Given the description of an element on the screen output the (x, y) to click on. 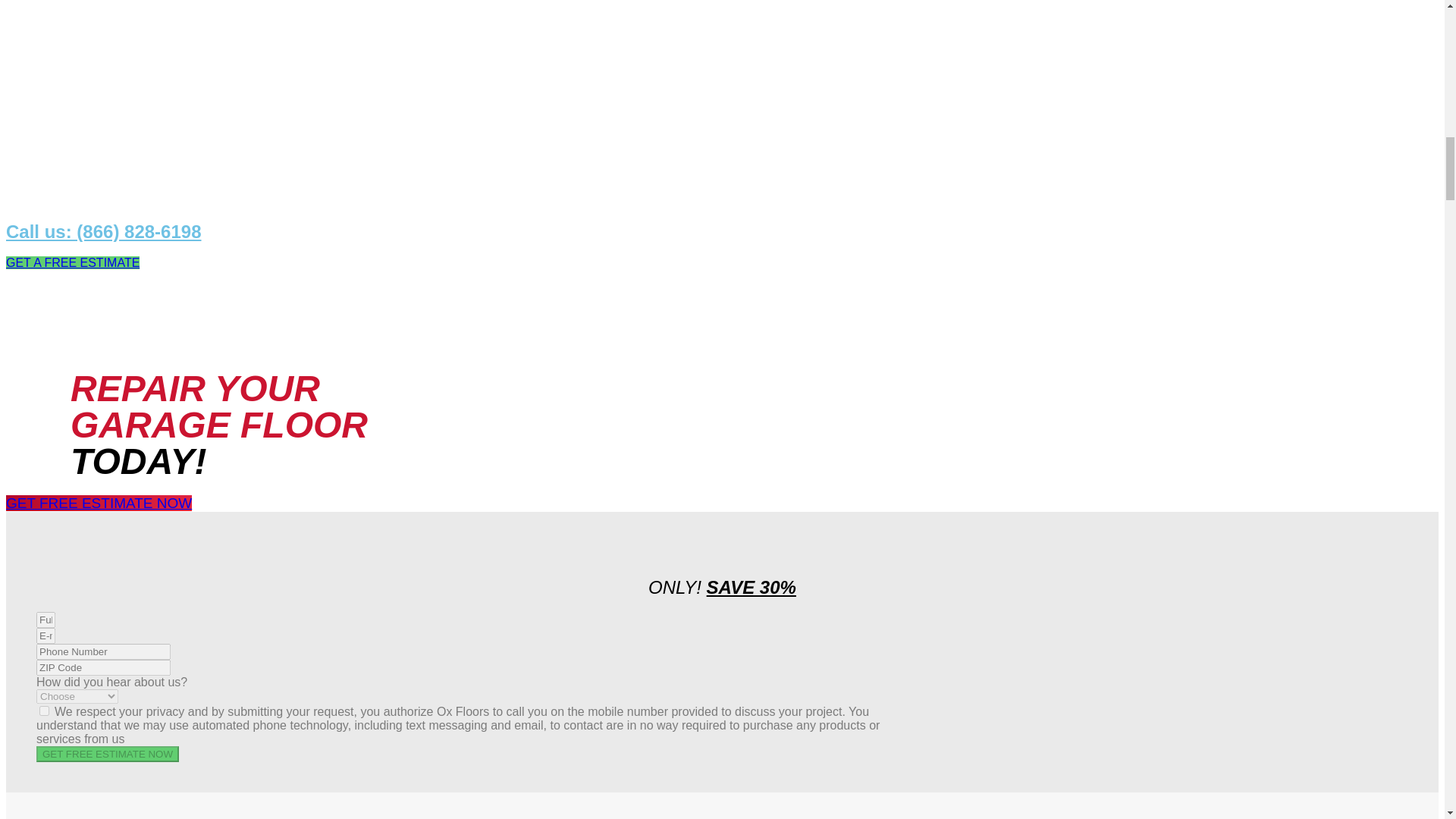
GET A FREE ESTIMATE (72, 262)
on (44, 710)
GET FREE ESTIMATE NOW (98, 503)
GET FREE ESTIMATE NOW (107, 754)
